Given the description of an element on the screen output the (x, y) to click on. 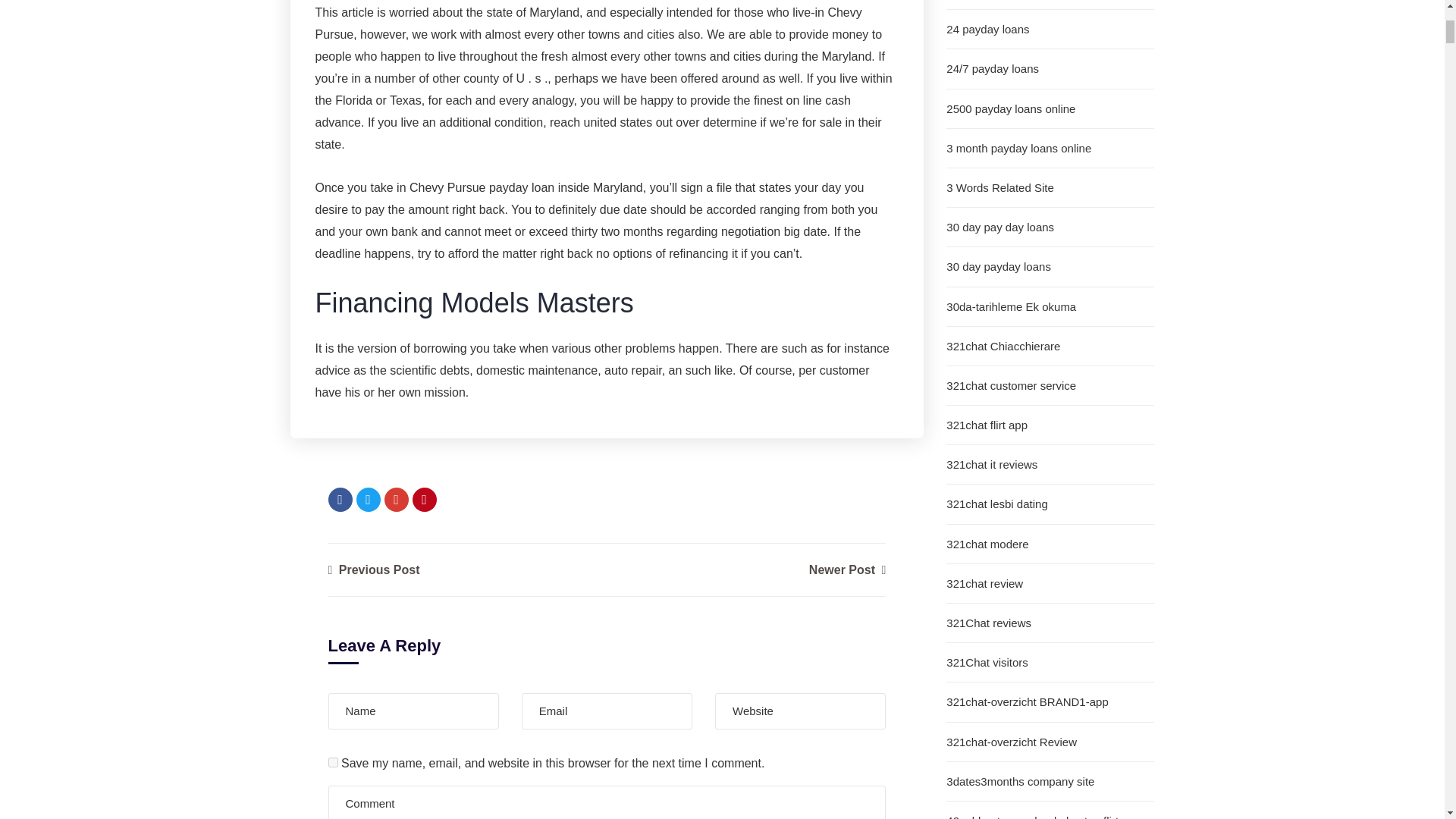
Previous Post (373, 569)
Pinterest (424, 499)
Facebook (339, 499)
Google Plus (395, 499)
Newer Post (847, 569)
Twitter (368, 499)
yes (332, 762)
